Given the description of an element on the screen output the (x, y) to click on. 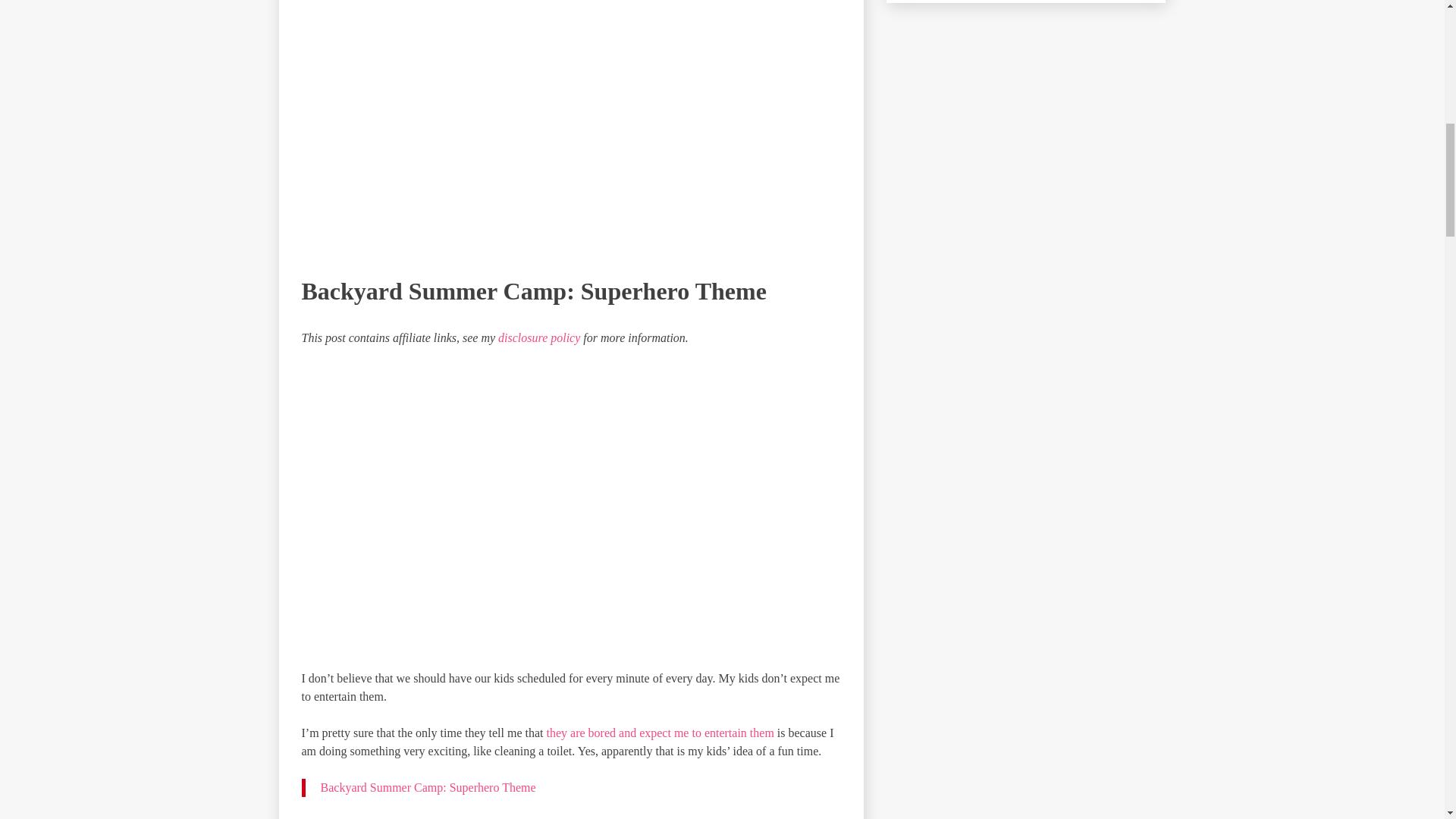
disclosure policy (538, 337)
